Given the description of an element on the screen output the (x, y) to click on. 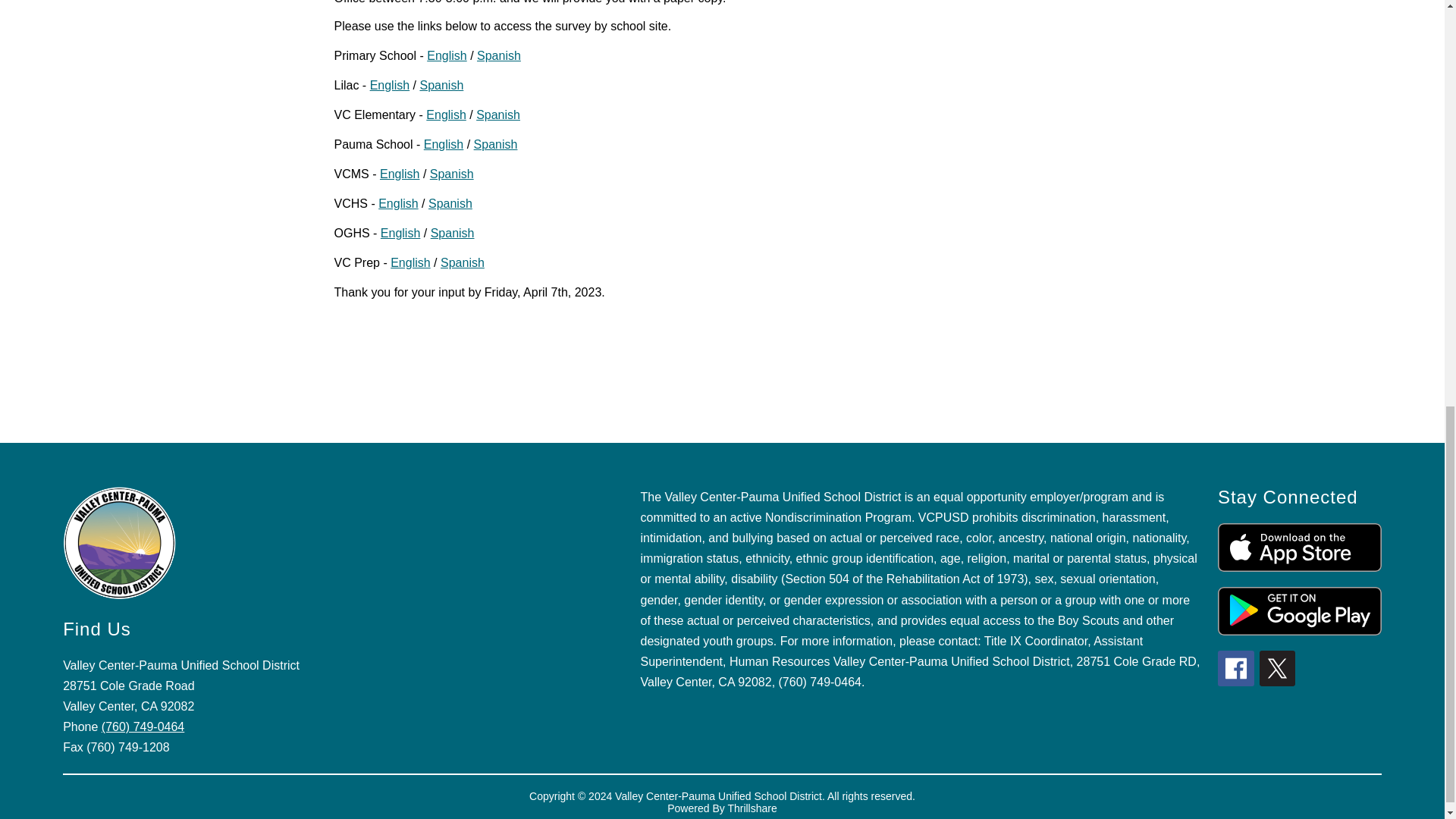
Spanish (497, 114)
Thrillshare (751, 808)
English (397, 203)
English (409, 262)
Spanish (449, 203)
English (445, 55)
Spanish (452, 232)
English (399, 173)
English (400, 232)
English (443, 144)
